Given the description of an element on the screen output the (x, y) to click on. 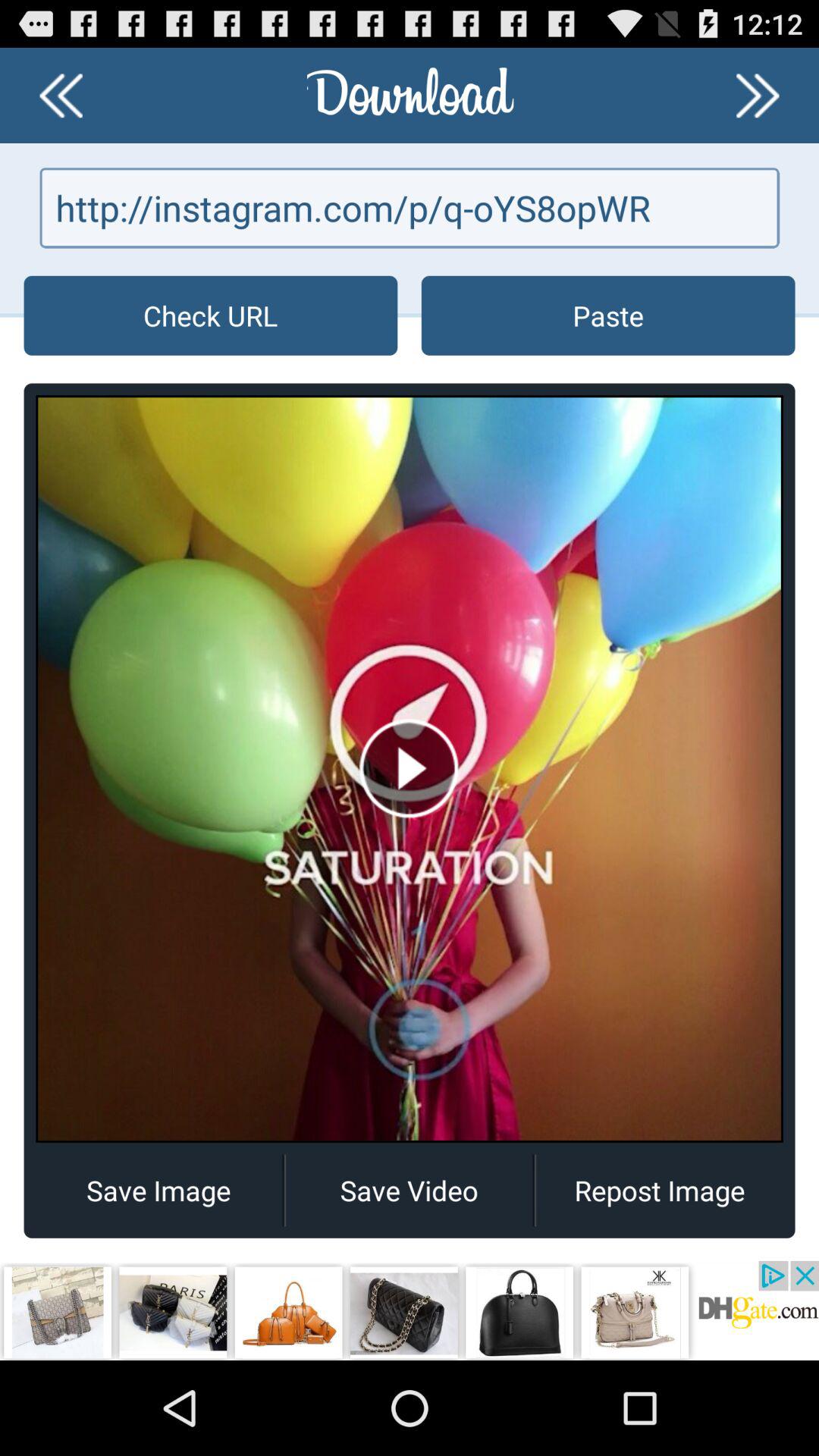
go to previous (61, 95)
